Given the description of an element on the screen output the (x, y) to click on. 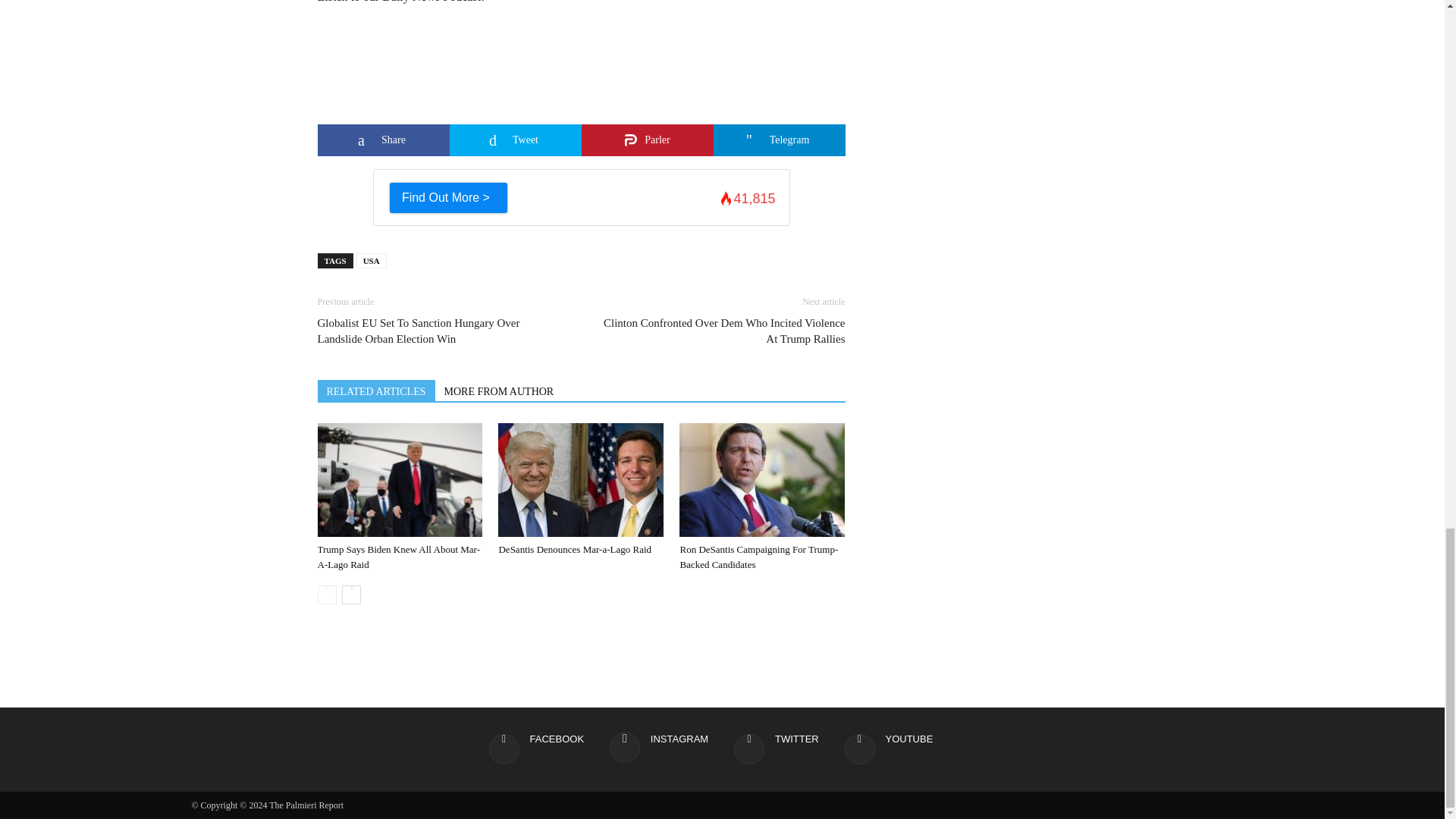
Share on Telegram (778, 140)
Share on Parler (646, 140)
Share on Tweet (514, 140)
Share on Share (382, 140)
Trump Says Biden Knew All About Mar-A-Lago Raid (399, 480)
